Given the description of an element on the screen output the (x, y) to click on. 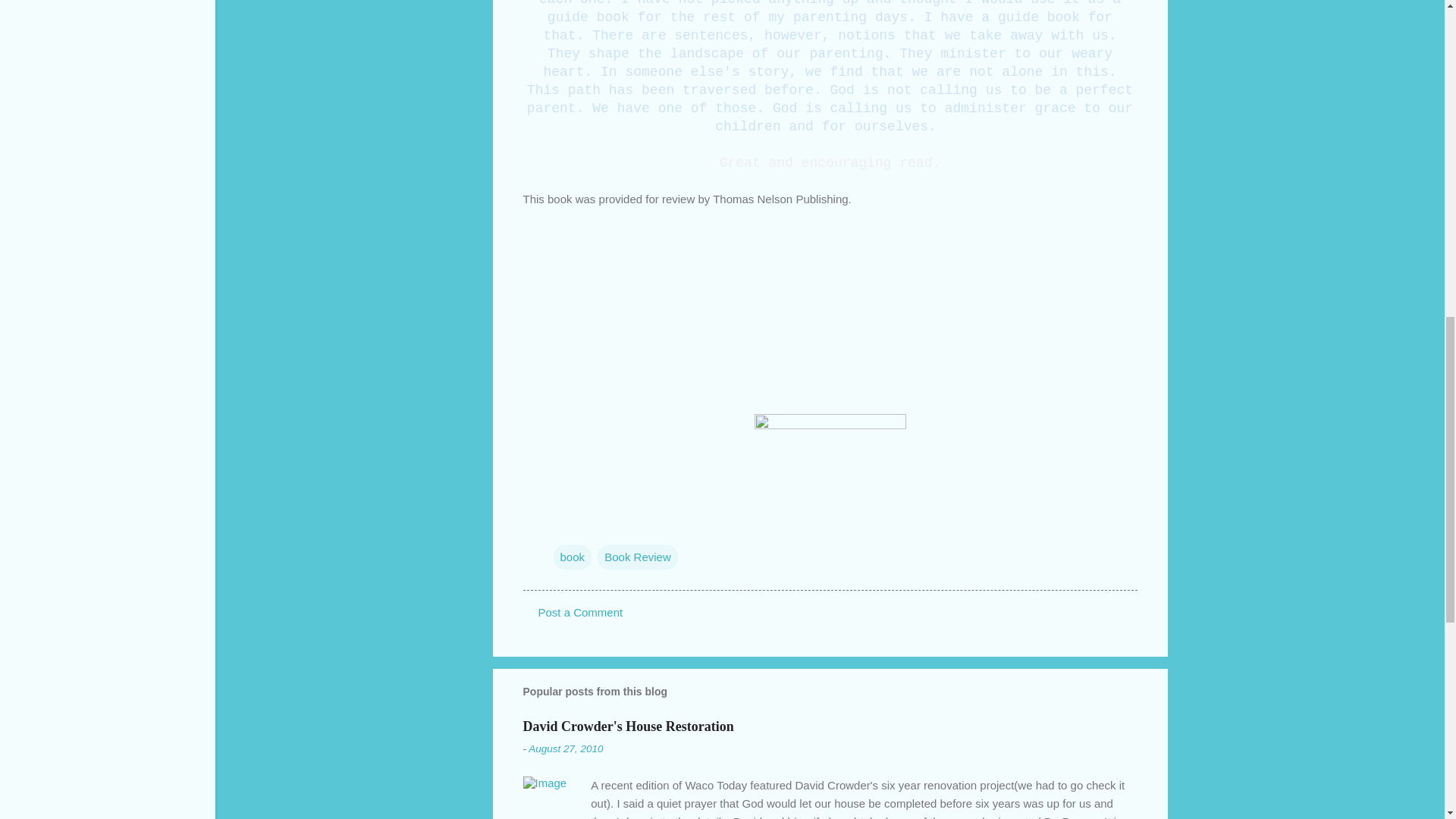
book (572, 556)
Email Post (562, 526)
David Crowder's House Restoration (627, 726)
permanent link (565, 748)
Book Review (637, 556)
Post a Comment (580, 612)
August 27, 2010 (565, 748)
